Given the description of an element on the screen output the (x, y) to click on. 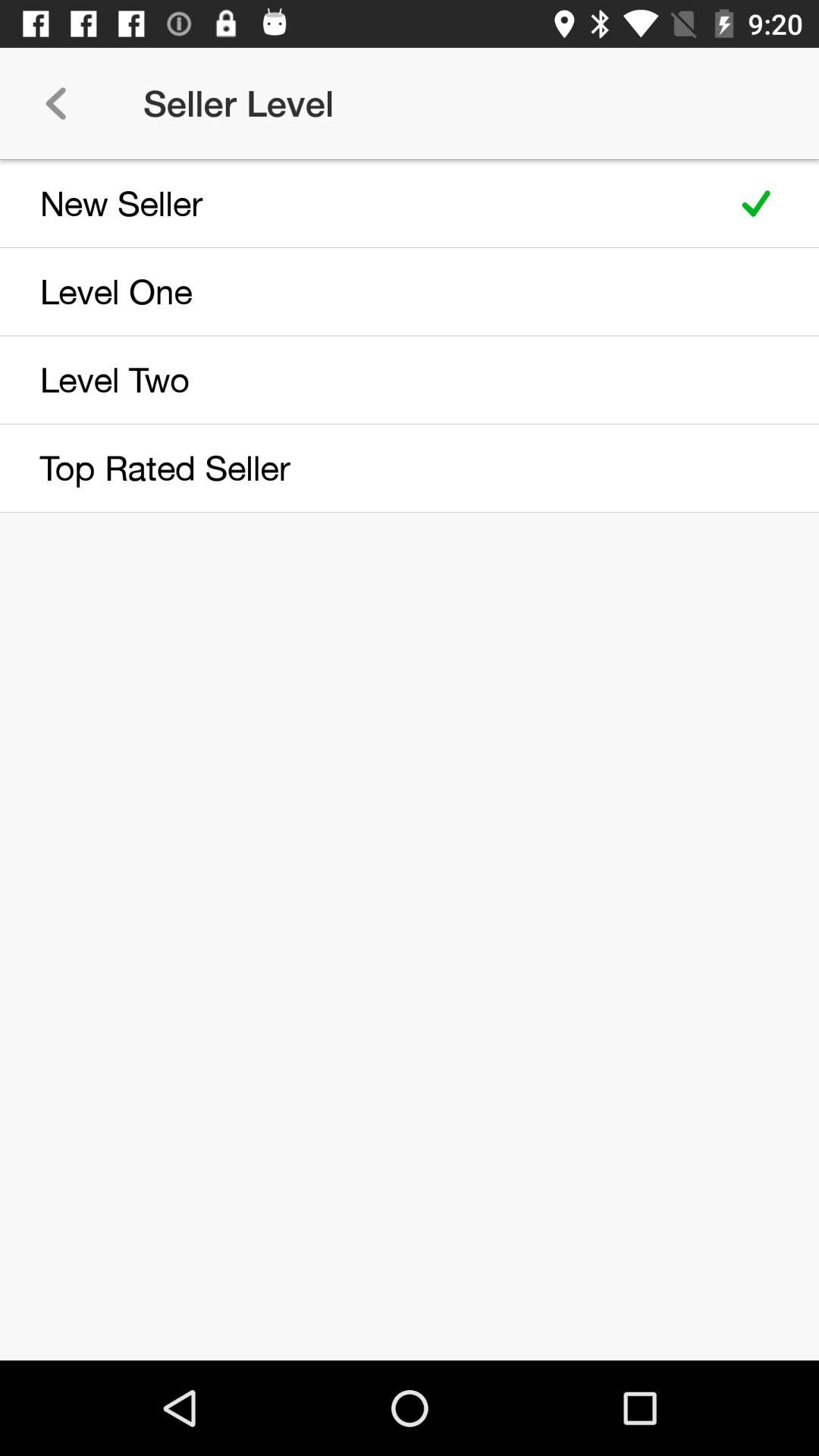
turn off icon below level two icon (358, 467)
